Given the description of an element on the screen output the (x, y) to click on. 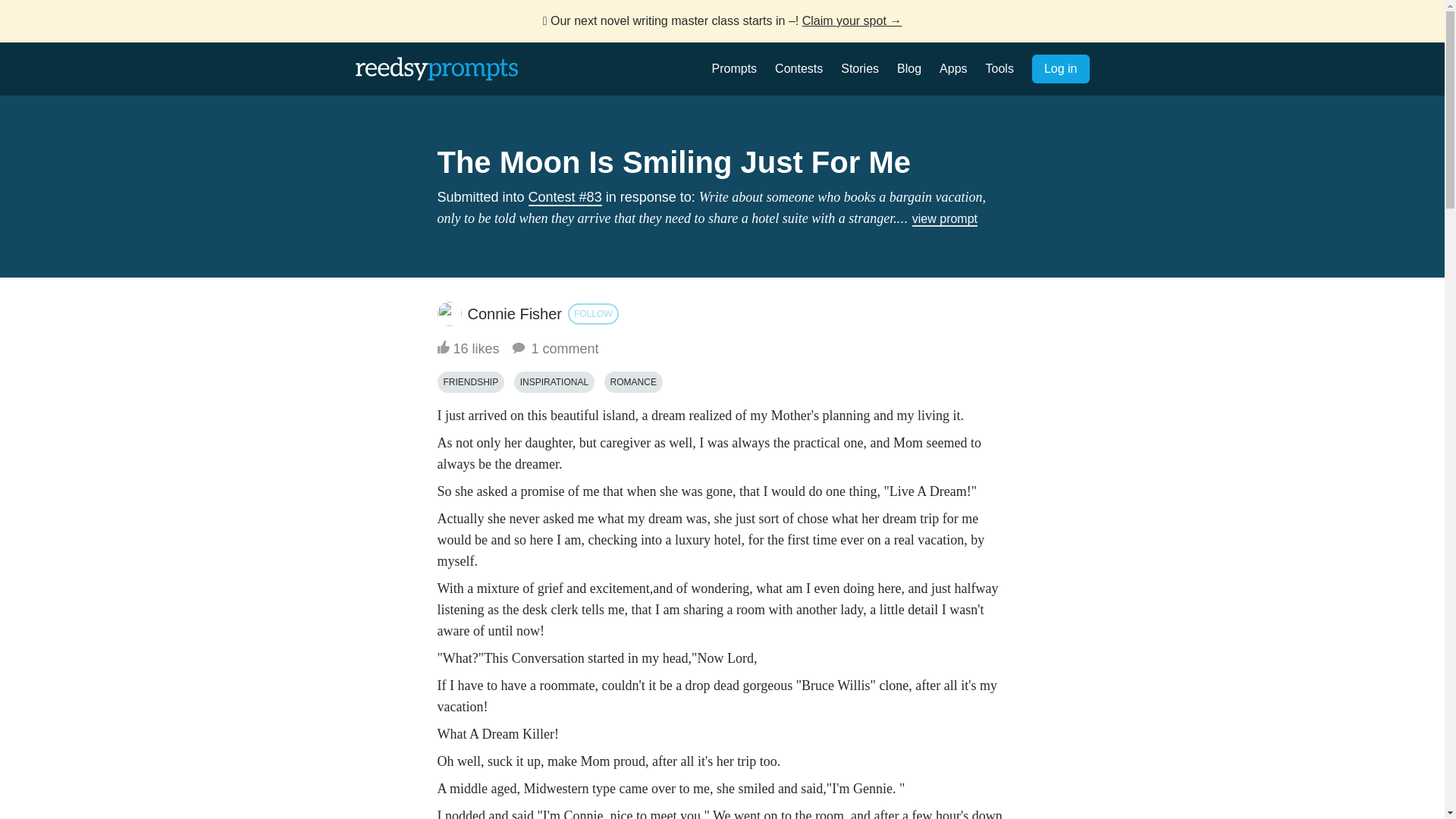
Log in (1060, 68)
Blog (908, 68)
1 comment (553, 348)
Tools (999, 68)
Stories (860, 68)
Prompts (734, 68)
Apps (952, 68)
Contests (798, 68)
